Given the description of an element on the screen output the (x, y) to click on. 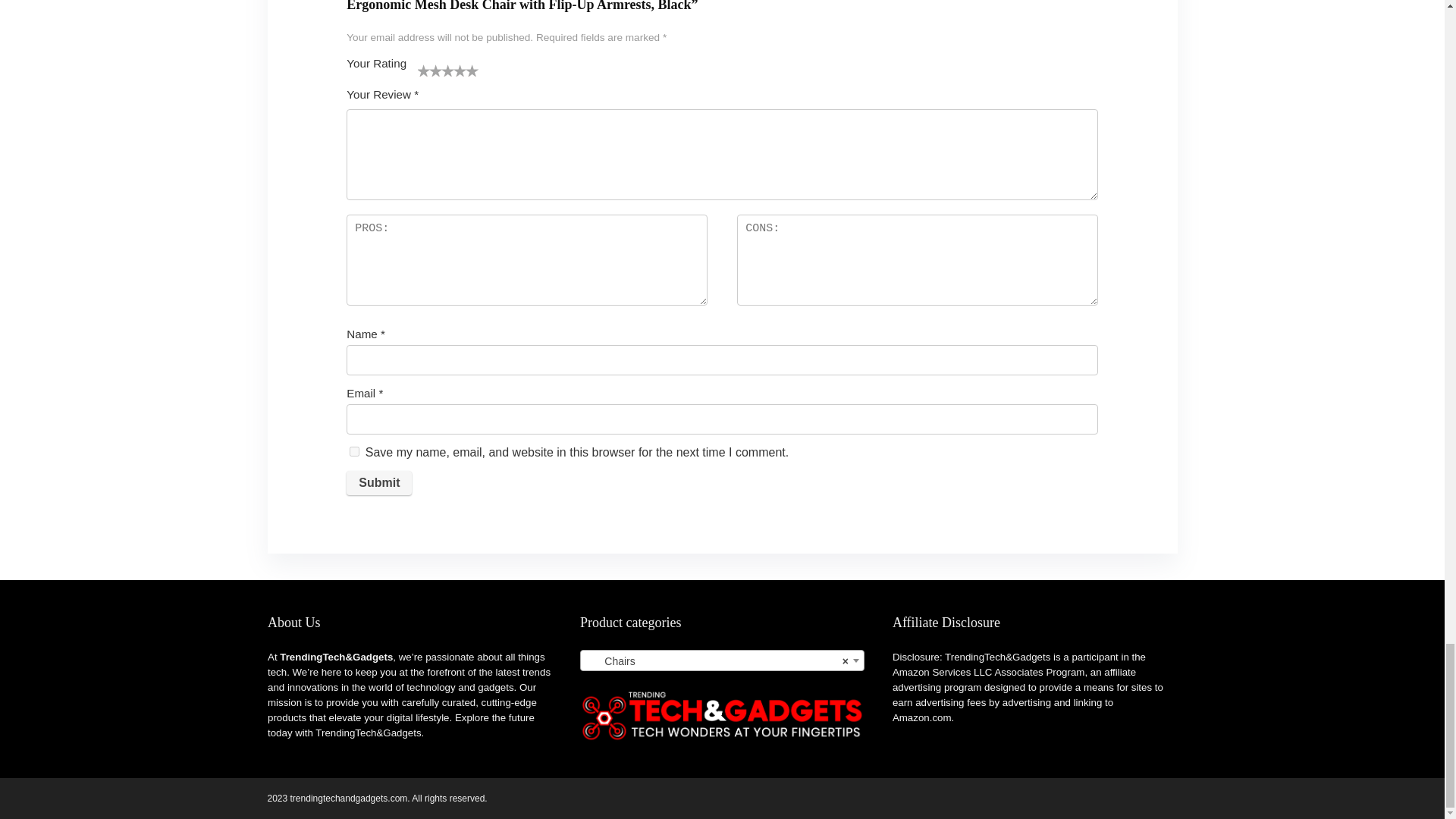
yes (354, 451)
Submit (379, 482)
